Given the description of an element on the screen output the (x, y) to click on. 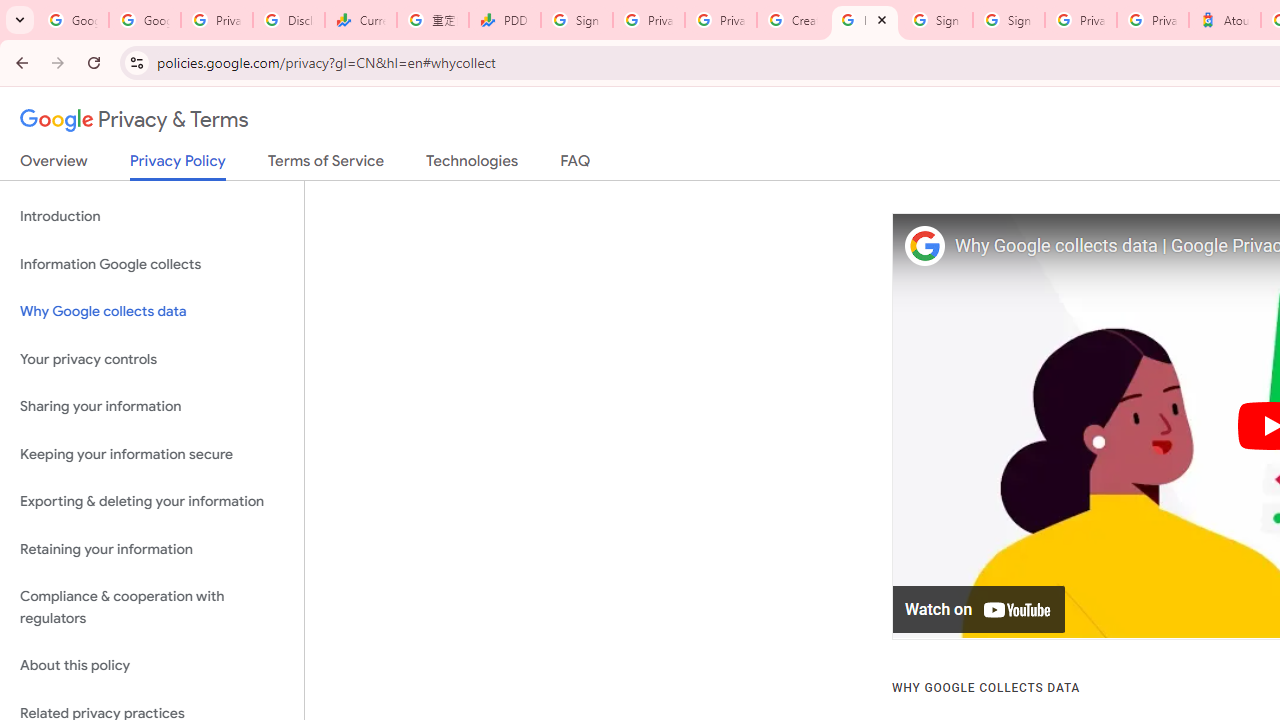
Sign in - Google Accounts (1008, 20)
Sign in - Google Accounts (936, 20)
PDD Holdings Inc - ADR (PDD) Price & News - Google Finance (504, 20)
Privacy Checkup (720, 20)
